Given the description of an element on the screen output the (x, y) to click on. 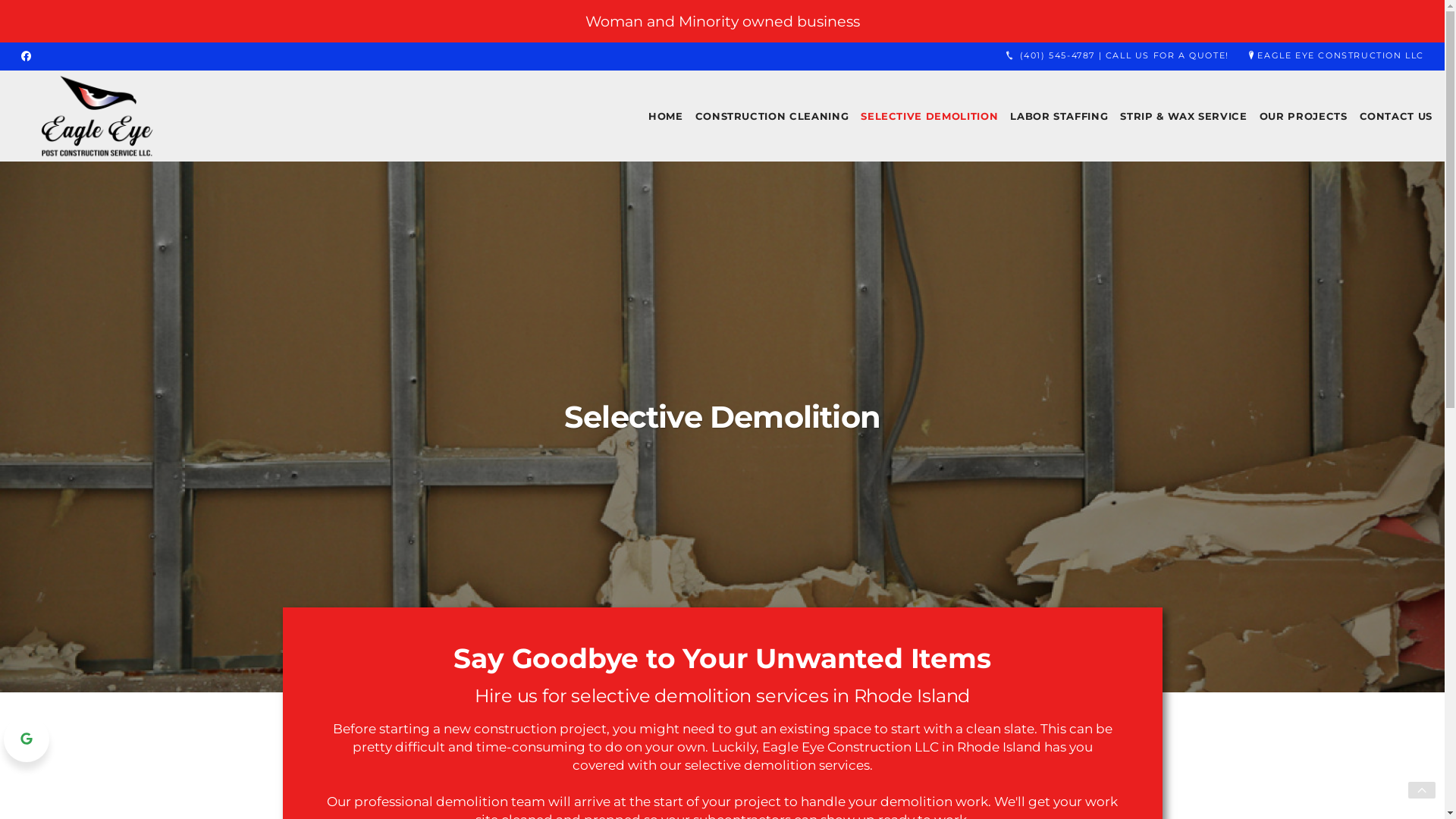
(401) 545-4787 Element type: text (1115, 56)
HOME Element type: text (665, 115)
STRIP & WAX SERVICE Element type: text (1182, 115)
OUR PROJECTS Element type: text (1303, 115)
CONSTRUCTION CLEANING Element type: text (772, 115)
Woman and Minority owned business Element type: text (722, 21)
EAGLE EYE CONSTRUCTION LLC Element type: text (1334, 56)
SELECTIVE DEMOLITION Element type: text (929, 115)
LABOR STAFFING Element type: text (1058, 115)
Facebook Element type: hover (26, 55)
CONTACT US Element type: text (1395, 115)
Eagle Eye Construction LLC Element type: hover (97, 115)
